Given the description of an element on the screen output the (x, y) to click on. 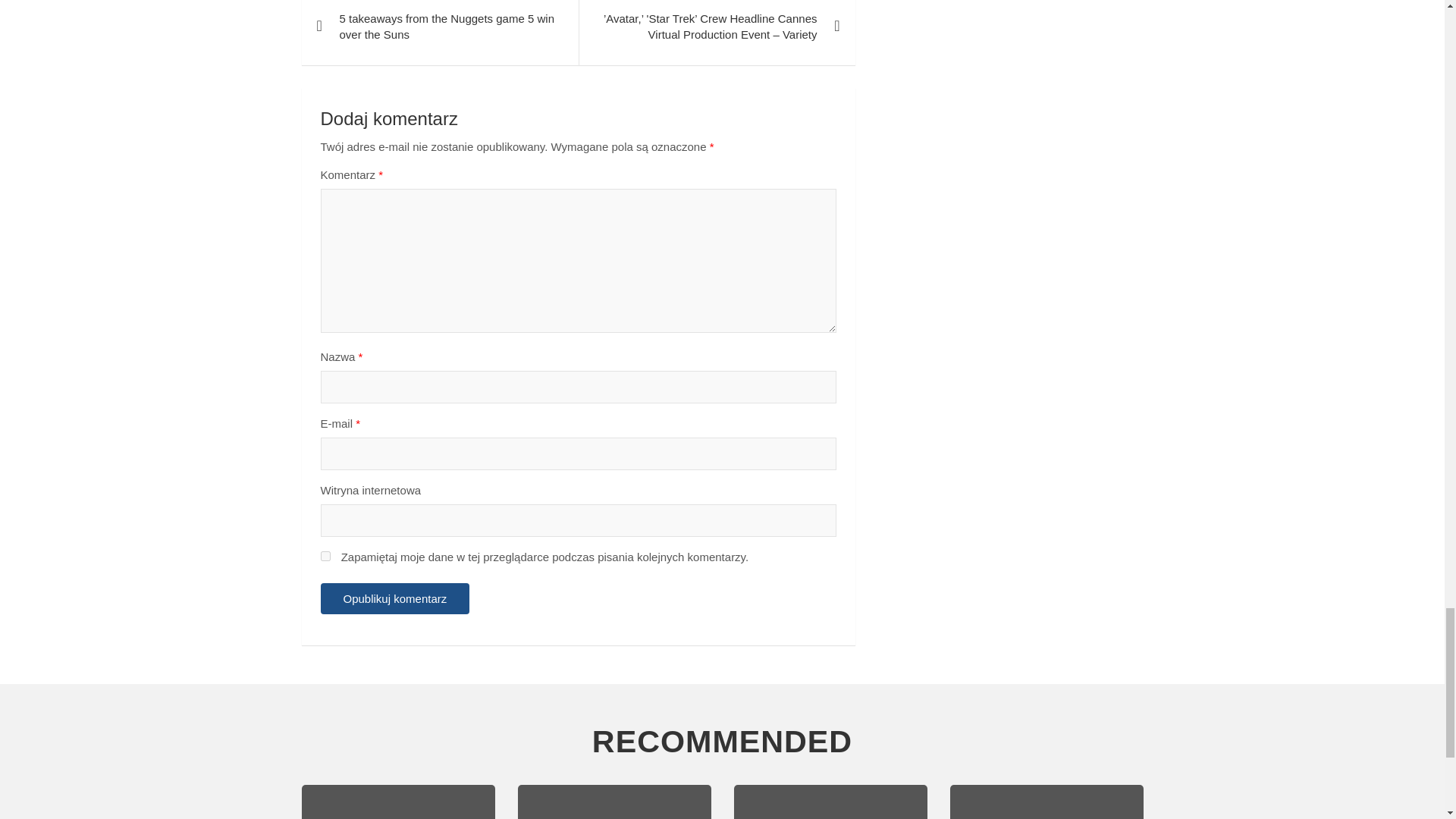
Opublikuj komentarz (394, 598)
yes (325, 556)
